Given the description of an element on the screen output the (x, y) to click on. 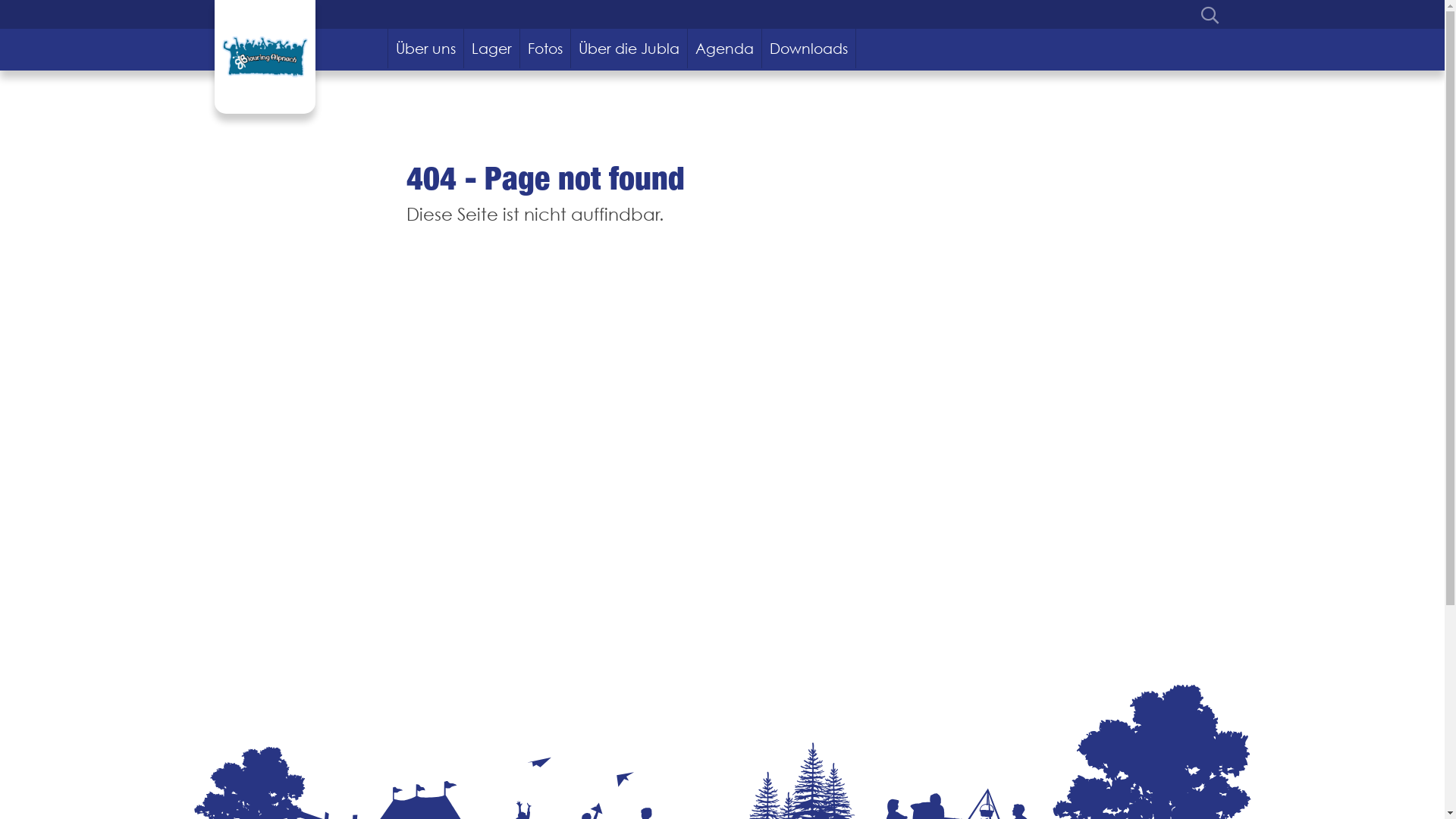
Downloads Element type: text (809, 48)
Fotos Element type: text (545, 48)
Blauring Alpnach Element type: hover (264, 56)
Lager Element type: text (492, 48)
Agenda Element type: text (724, 48)
